Given the description of an element on the screen output the (x, y) to click on. 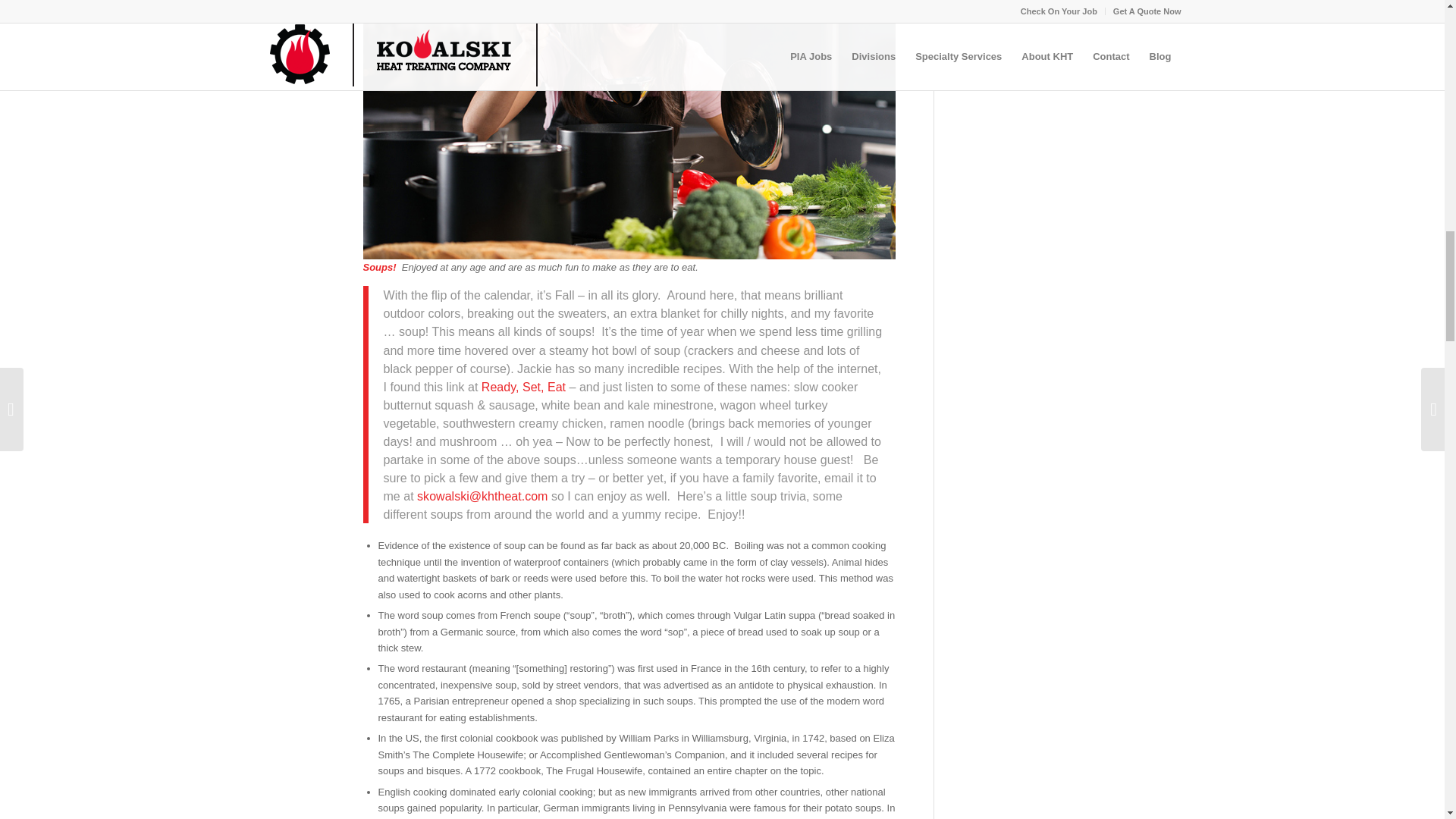
Ready, Set, Eat (523, 386)
